Given the description of an element on the screen output the (x, y) to click on. 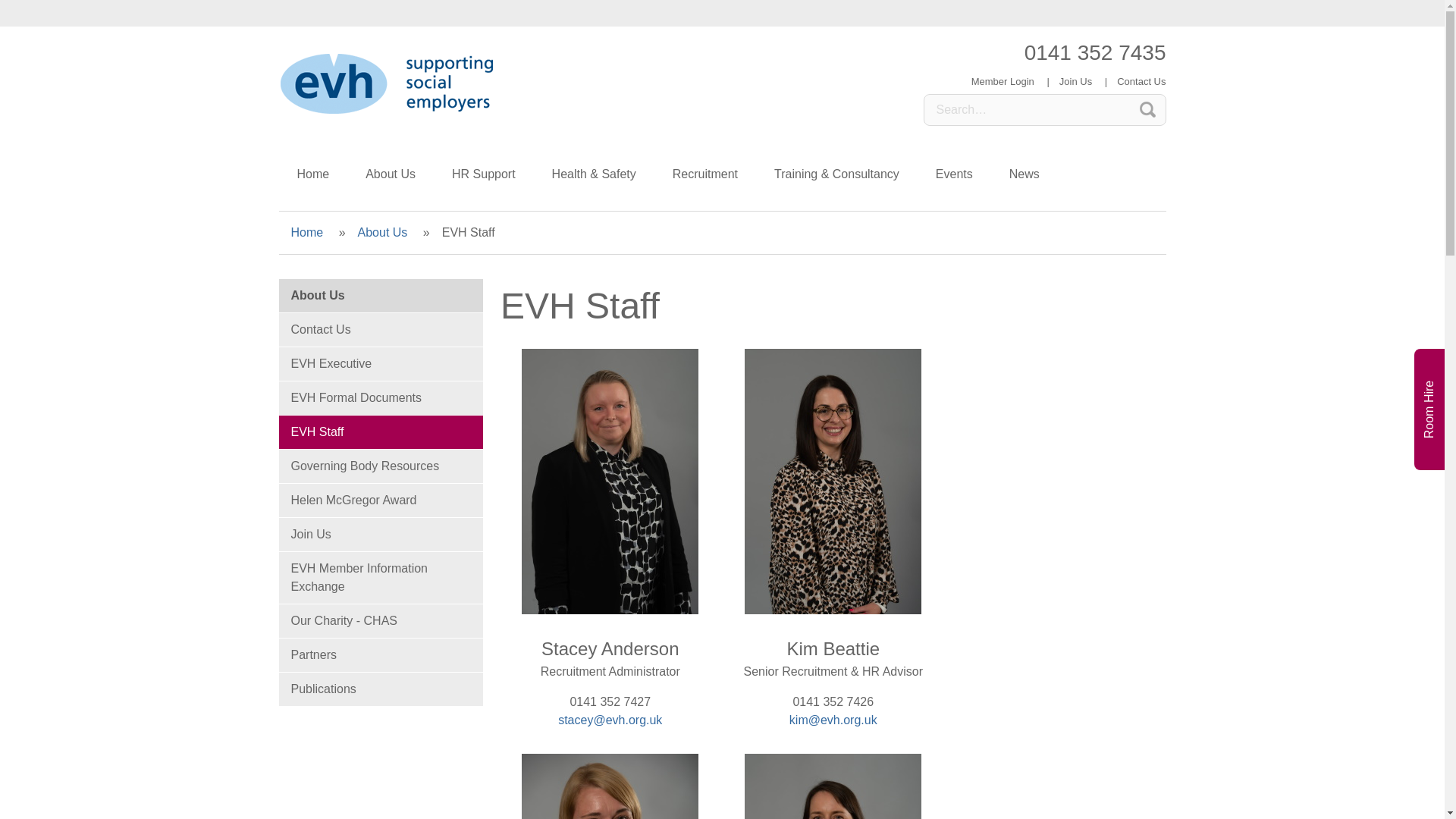
Search (1147, 110)
Home (313, 174)
Contact Us (1136, 81)
Member login (1001, 81)
Search (1147, 110)
Search (1147, 110)
Join Us (1075, 81)
HR Support (483, 174)
About Us (390, 174)
Member Login (1001, 81)
